Given the description of an element on the screen output the (x, y) to click on. 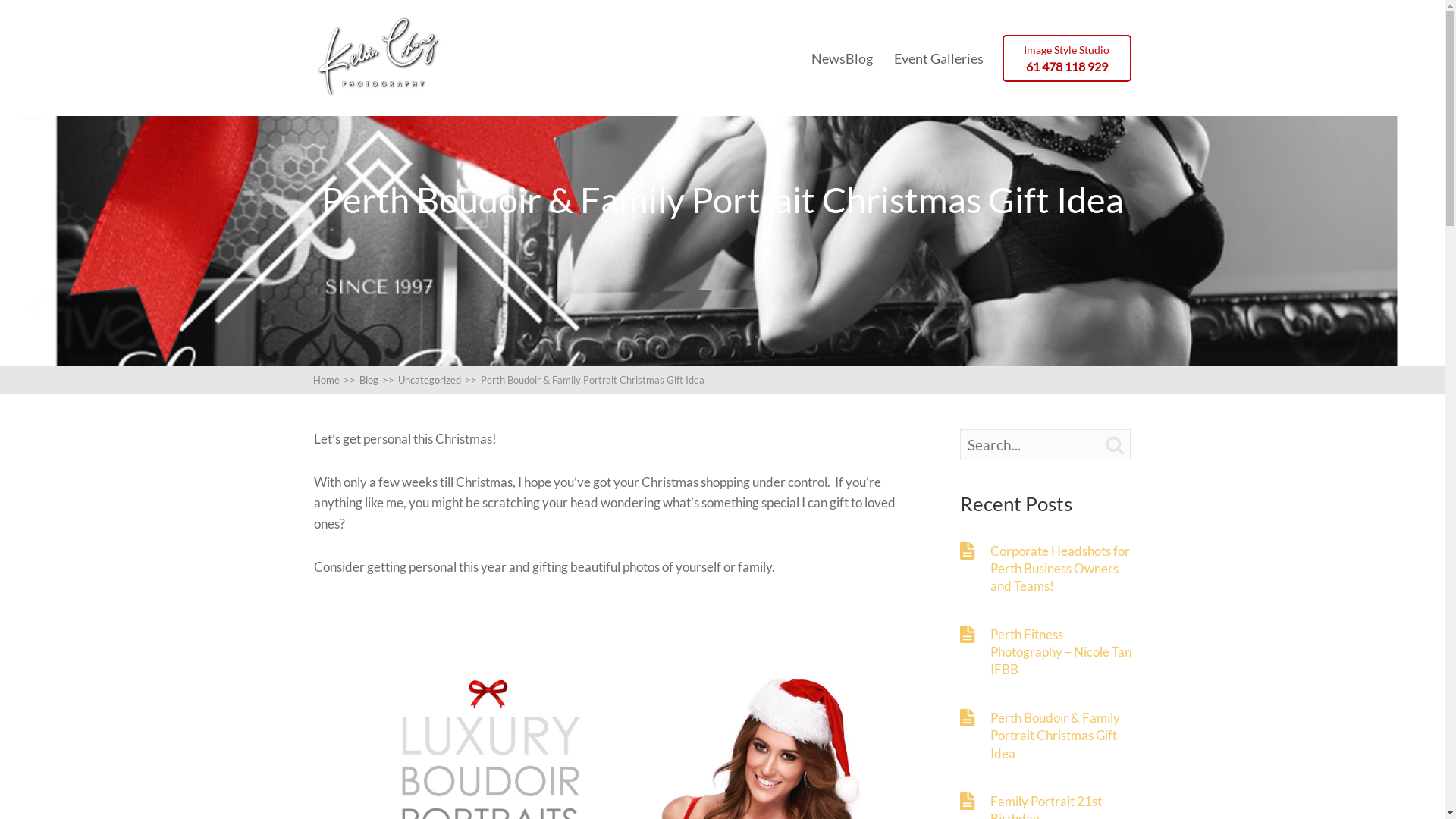
Corporate Headshots for Perth Business Owners and Teams! Element type: text (1061, 567)
Home >> Element type: text (335, 379)
Perth Boudoir & Family Portrait Christmas Gift Idea Element type: text (1061, 735)
Image Style Studio
61 478 118 929 Element type: text (1066, 57)
Uncategorized >> Element type: text (438, 379)
Event Galleries Element type: text (938, 58)
Blog >> Element type: text (378, 379)
NewsBlog Element type: text (841, 58)
